Given the description of an element on the screen output the (x, y) to click on. 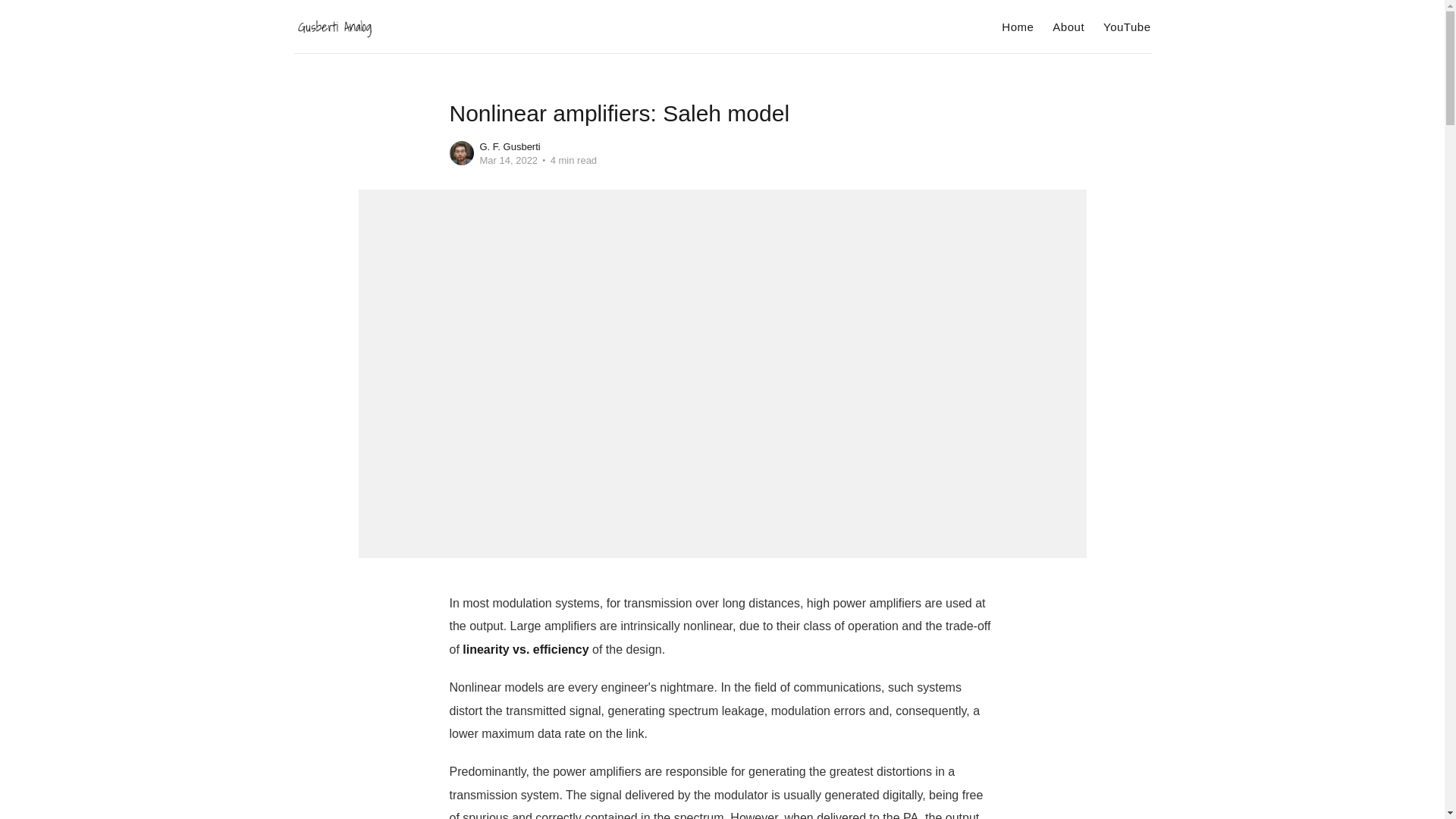
YouTube (1126, 26)
Home (1017, 26)
G. F. Gusberti (509, 146)
About (1068, 26)
